Given the description of an element on the screen output the (x, y) to click on. 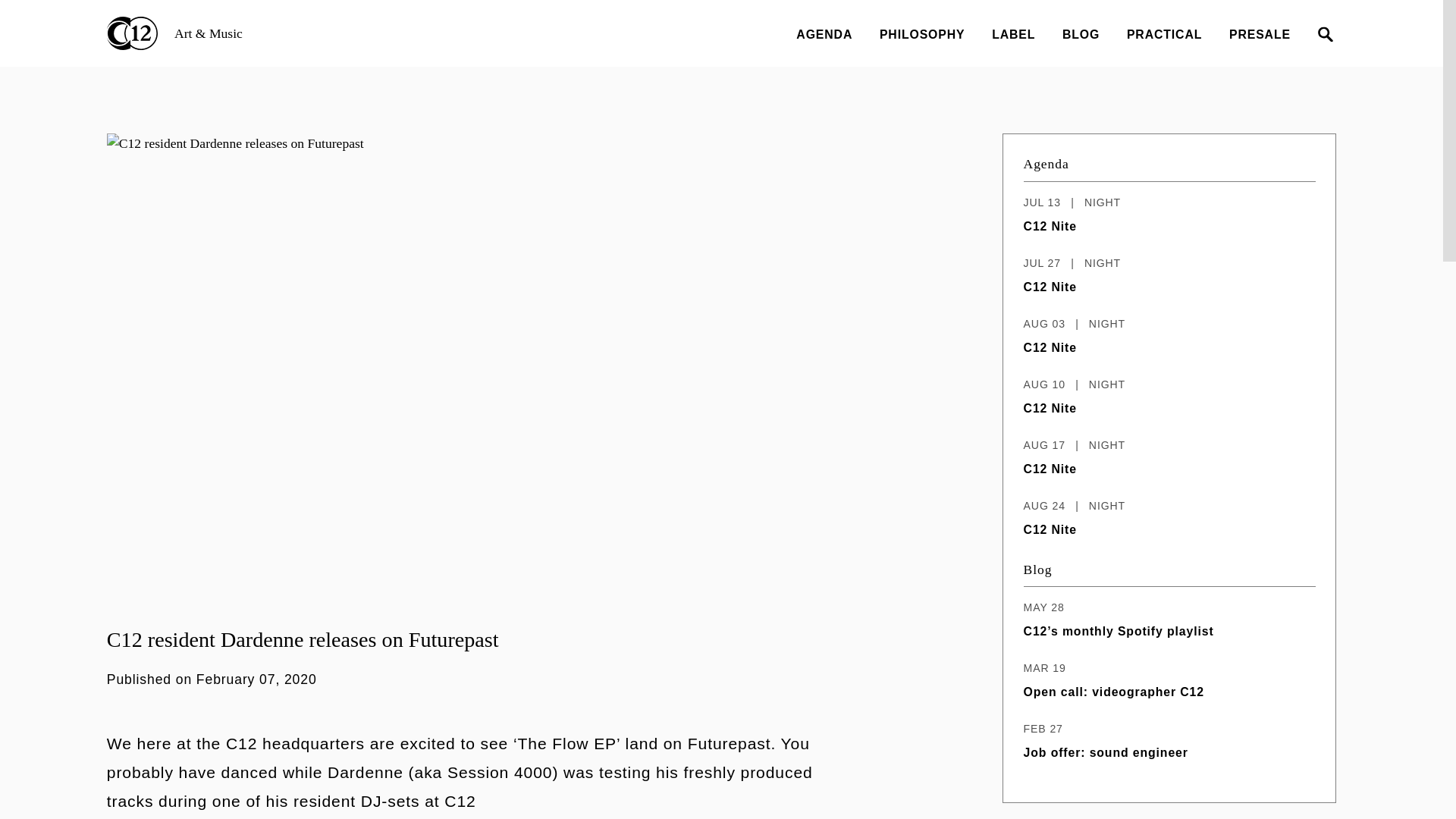
PRACTICAL (1164, 33)
BLOG (1080, 33)
AGENDA (823, 33)
Agenda (1045, 163)
PRESALE (1259, 33)
LABEL (1169, 680)
Blog (1013, 33)
PHILOSOPHY (1169, 741)
Search (1037, 569)
